Given the description of an element on the screen output the (x, y) to click on. 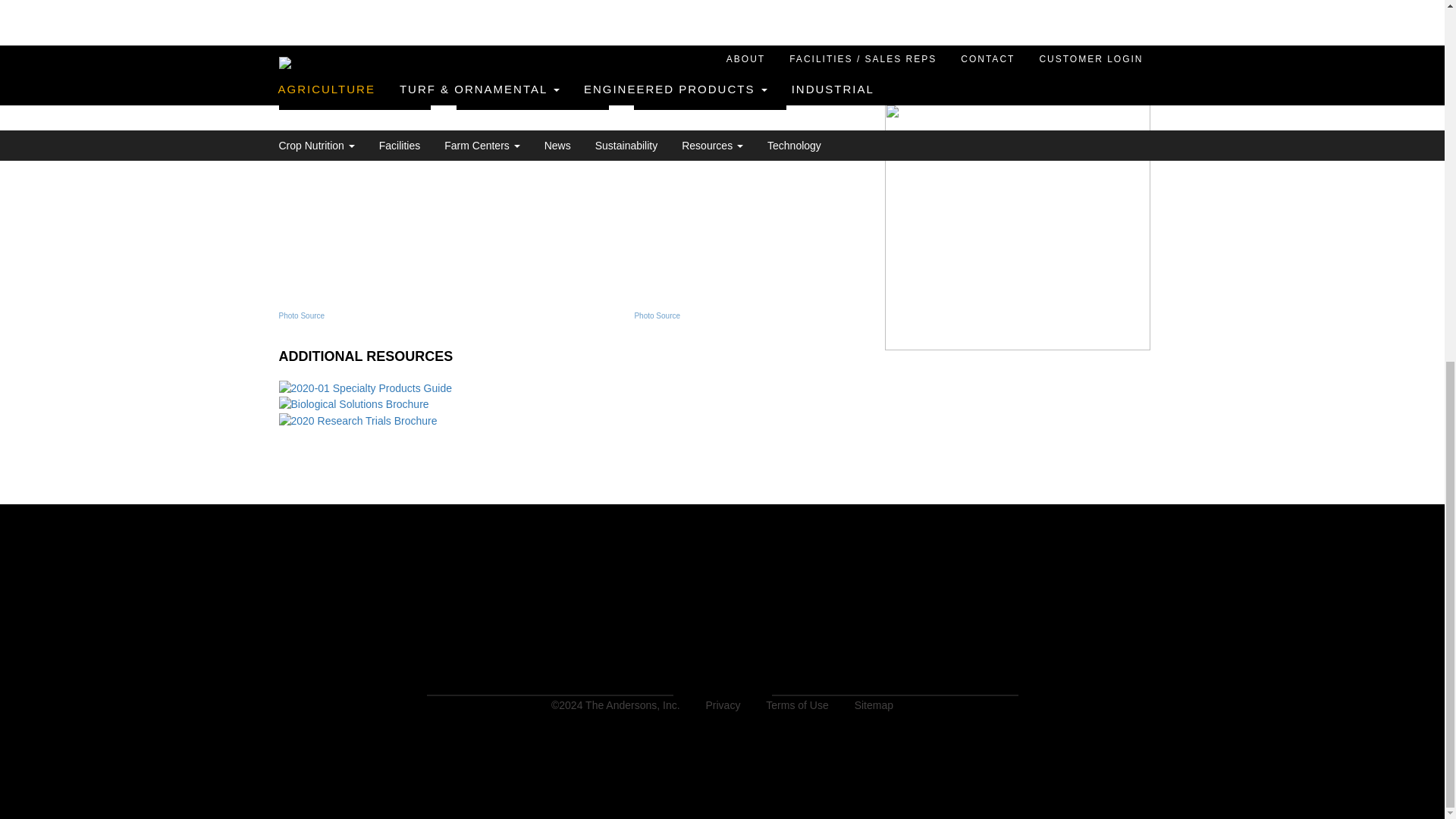
2020 Research Trials Brochure (358, 420)
2020-01 Specialty Products Guide (365, 387)
Biological Solutions Brochure (354, 403)
